Given the description of an element on the screen output the (x, y) to click on. 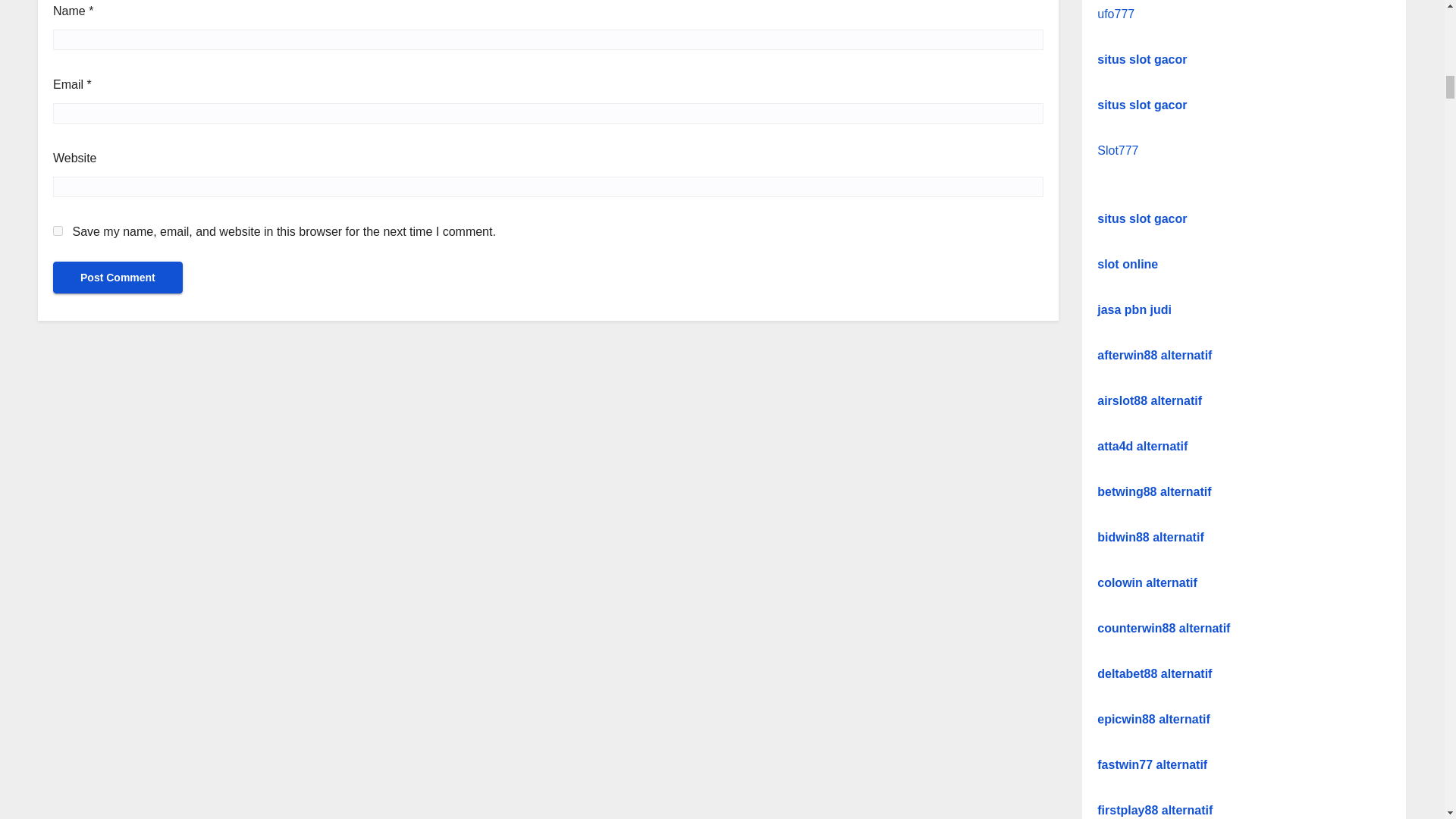
Post Comment (117, 277)
Post Comment (117, 277)
yes (57, 230)
